Given the description of an element on the screen output the (x, y) to click on. 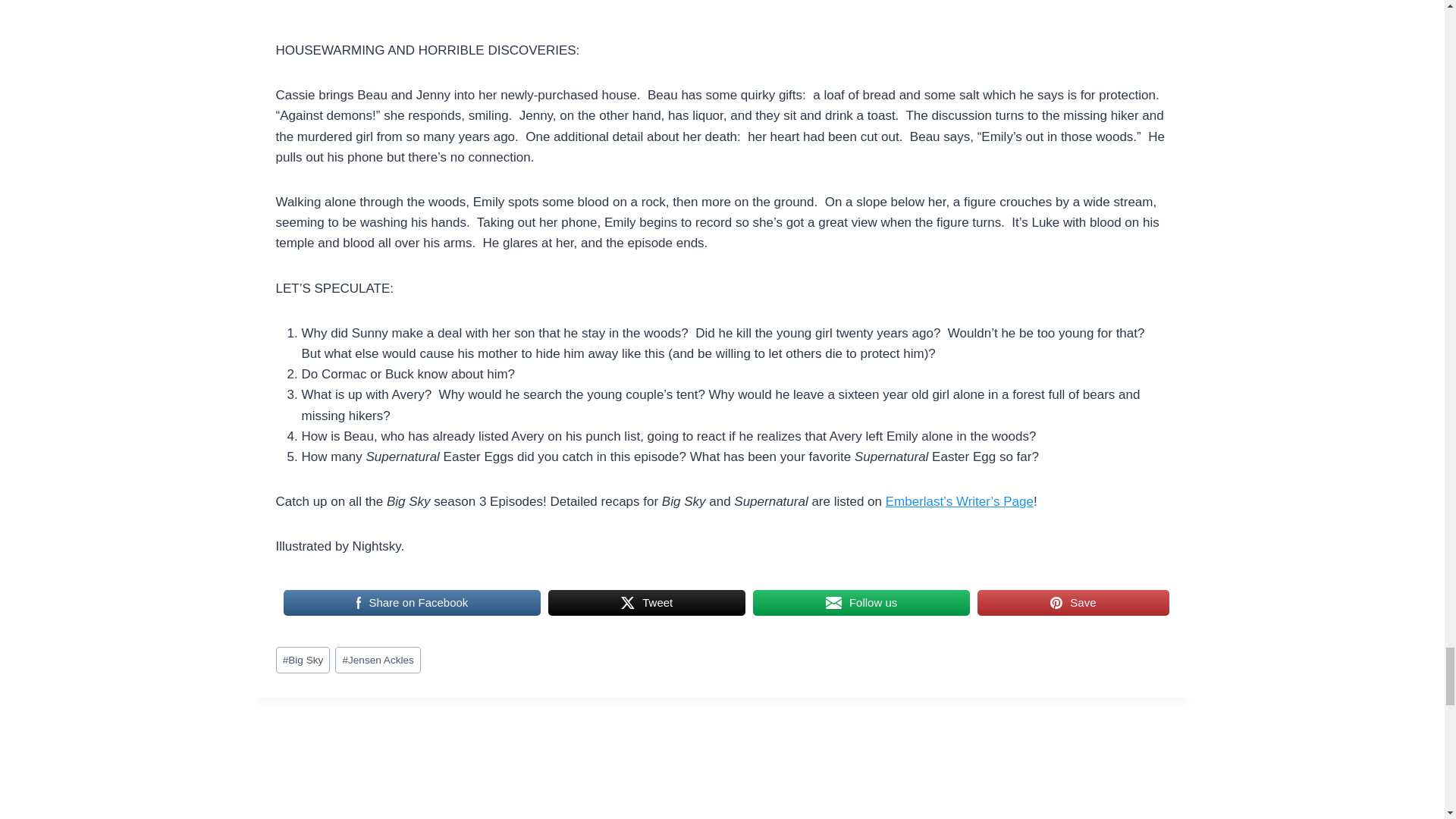
Jensen Ackles (377, 660)
Share on Facebook (412, 602)
Tweet (646, 602)
Big Sky (303, 660)
Save (1072, 602)
Follow us (860, 602)
